Given the description of an element on the screen output the (x, y) to click on. 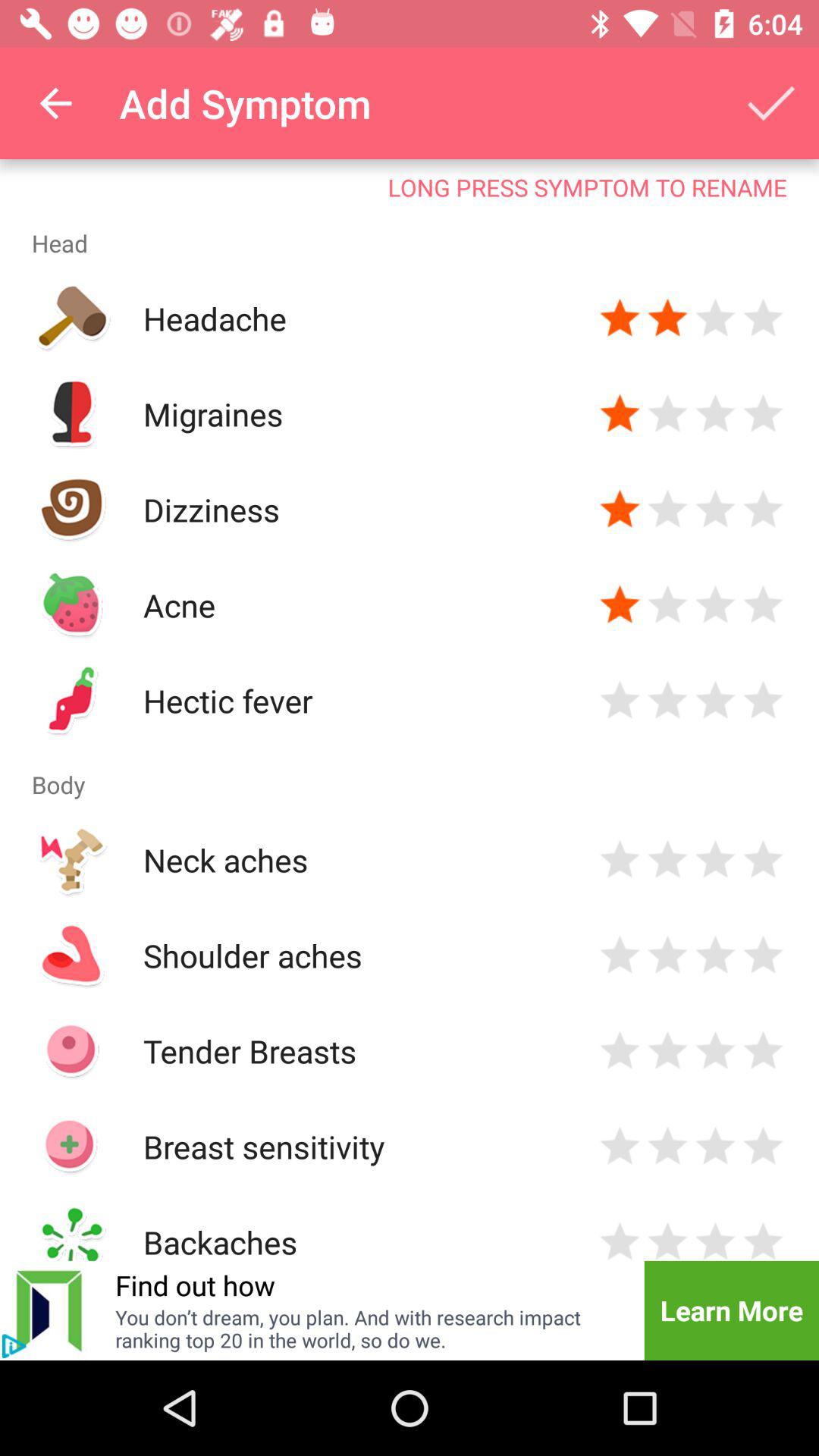
rate it out of 4 stars (715, 1239)
